Given the description of an element on the screen output the (x, y) to click on. 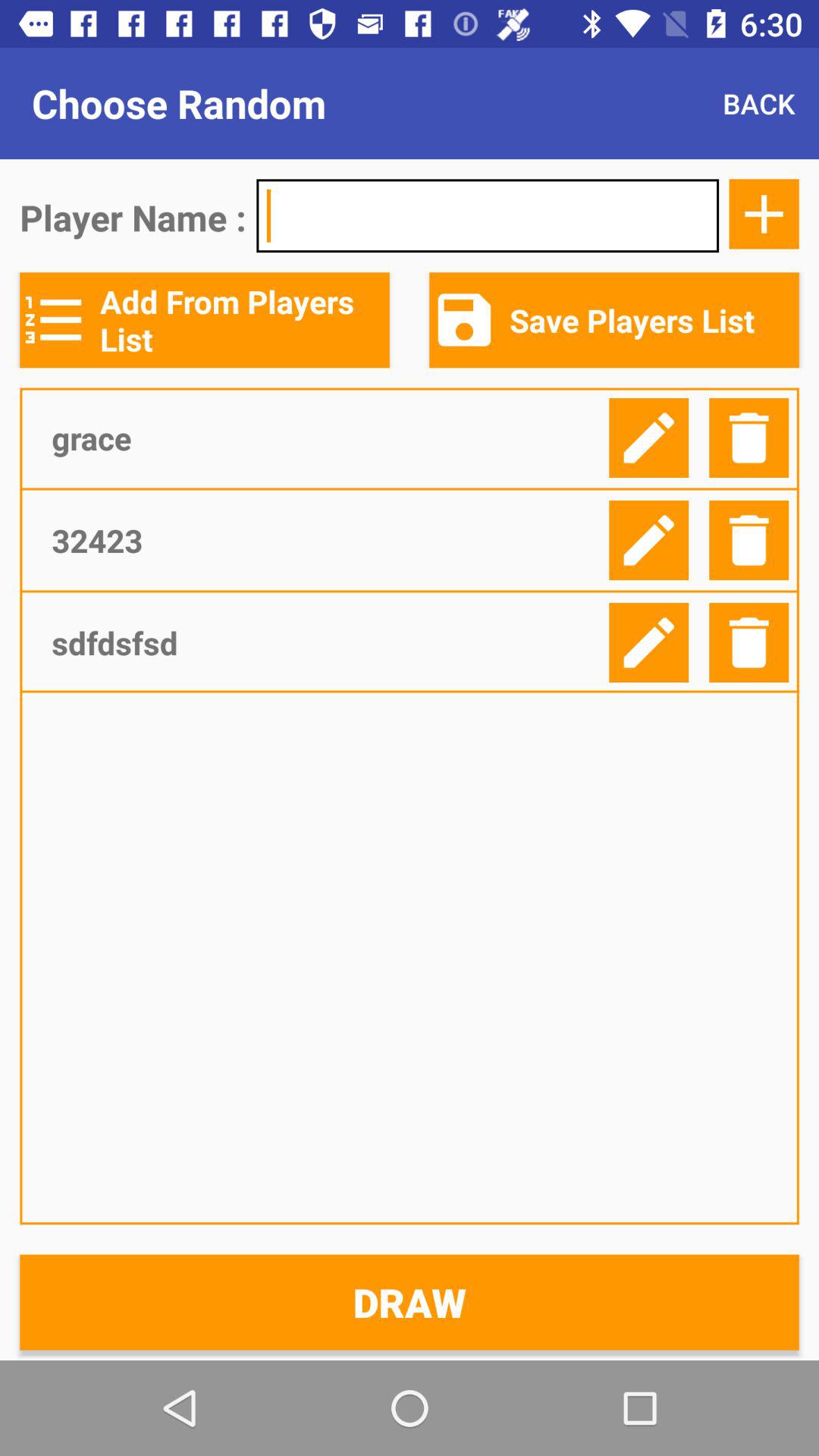
launch the item to the right of the choose random (758, 103)
